Given the description of an element on the screen output the (x, y) to click on. 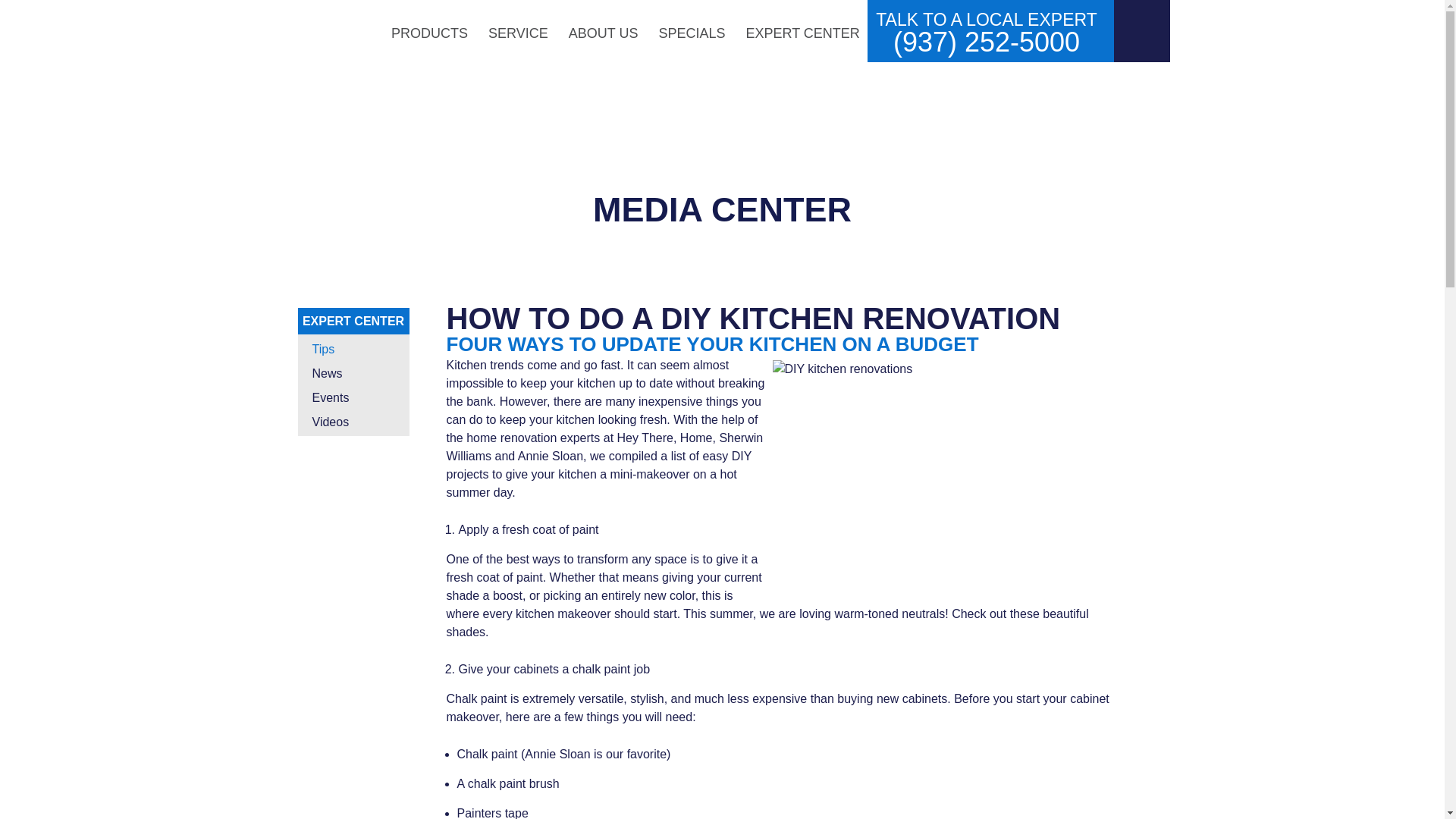
SERVICE (520, 30)
ABOUT US (605, 30)
Logan Master Appliances (333, 30)
PRODUCTS (431, 30)
